Given the description of an element on the screen output the (x, y) to click on. 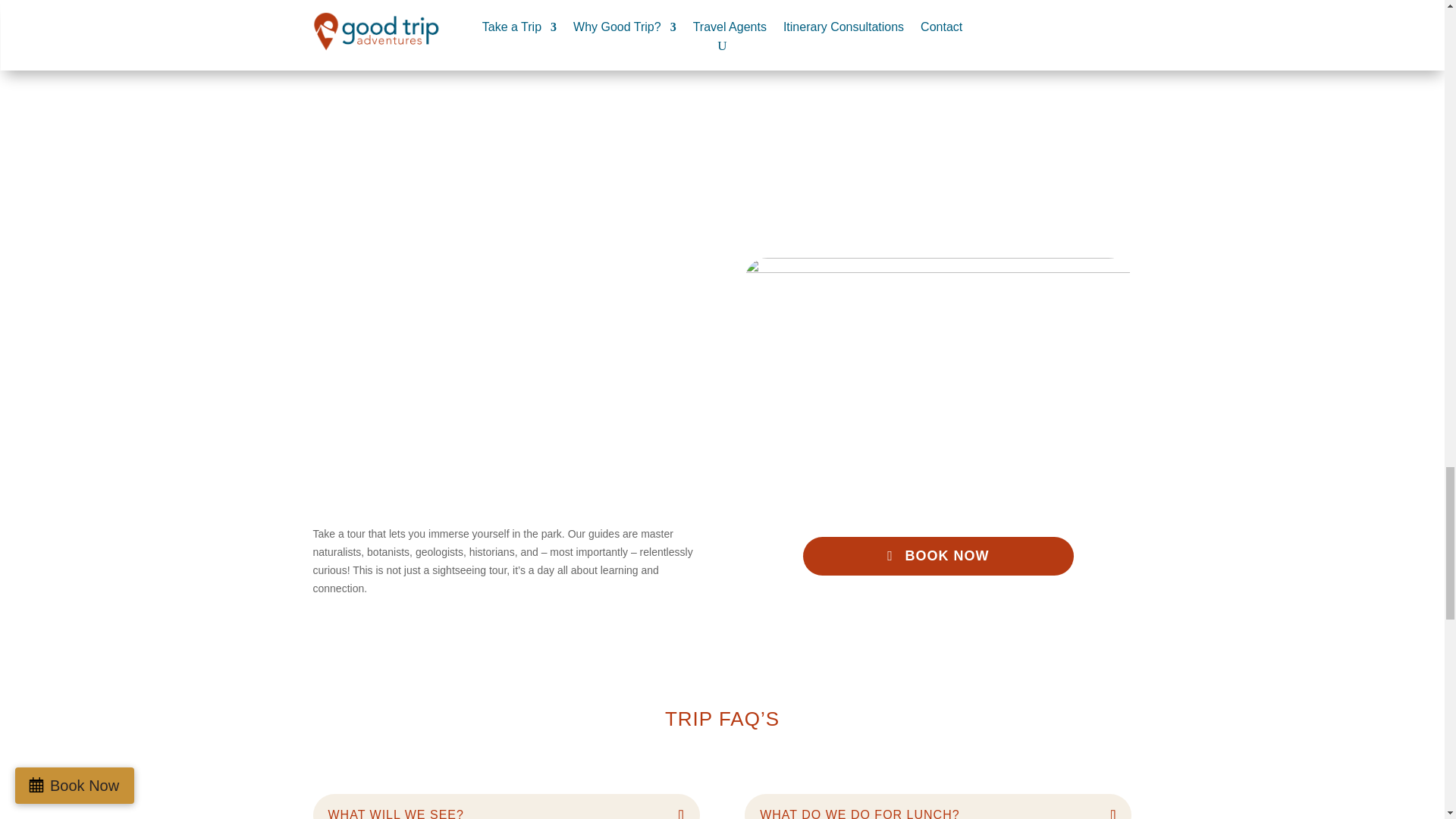
capitol-reef-national-park-tours (409, 56)
capitol-reef-hiking (937, 349)
capitol-reef (937, 142)
